Given the description of an element on the screen output the (x, y) to click on. 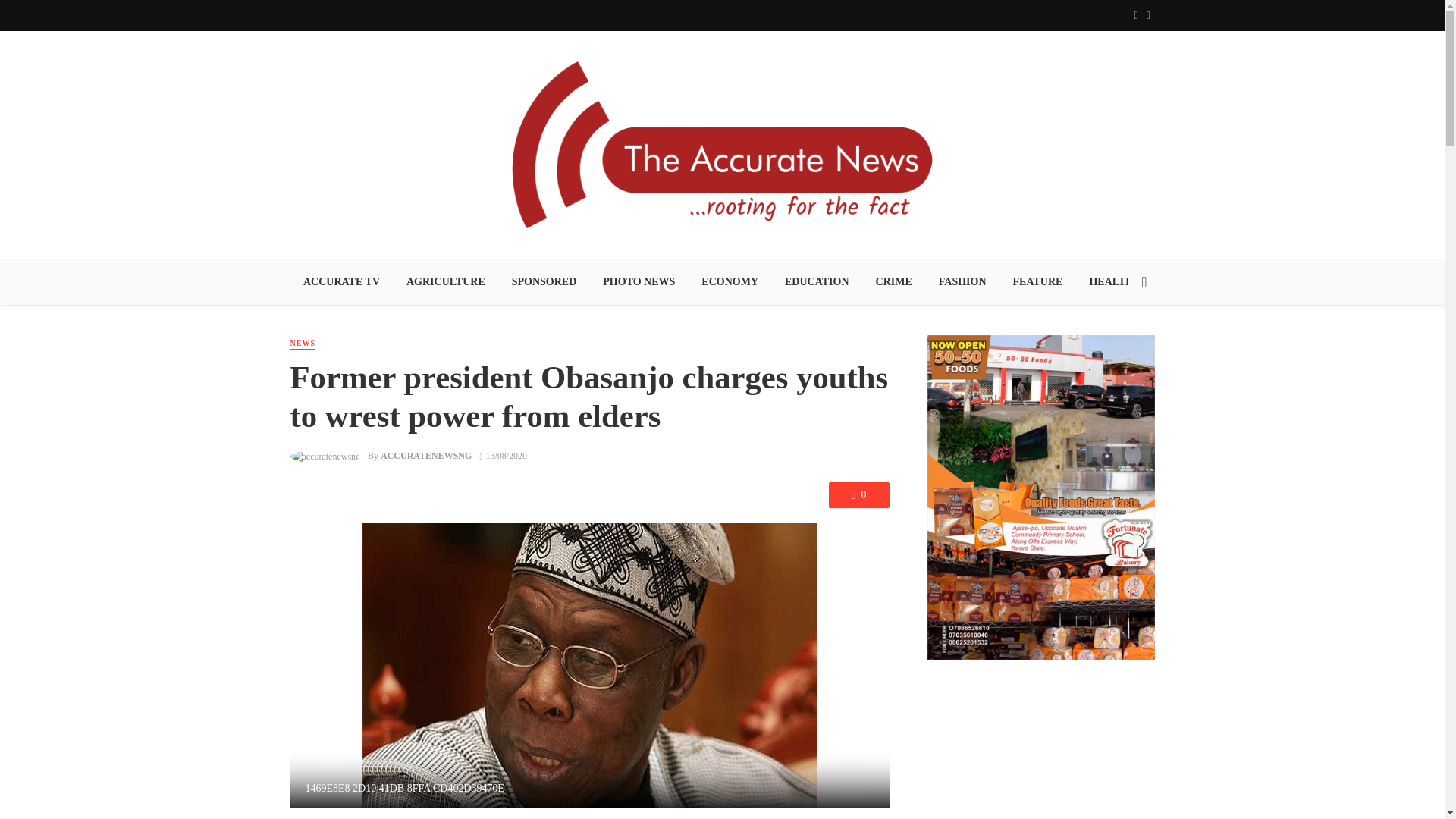
FASHION (961, 281)
0 (858, 494)
FEATURE (1036, 281)
HEALTH (1111, 281)
ECONOMY (729, 281)
ACCURATENEWSNG (425, 455)
NEWS (301, 343)
EDUCATION (817, 281)
SPONSORED (543, 281)
PHOTO NEWS (638, 281)
